Given the description of an element on the screen output the (x, y) to click on. 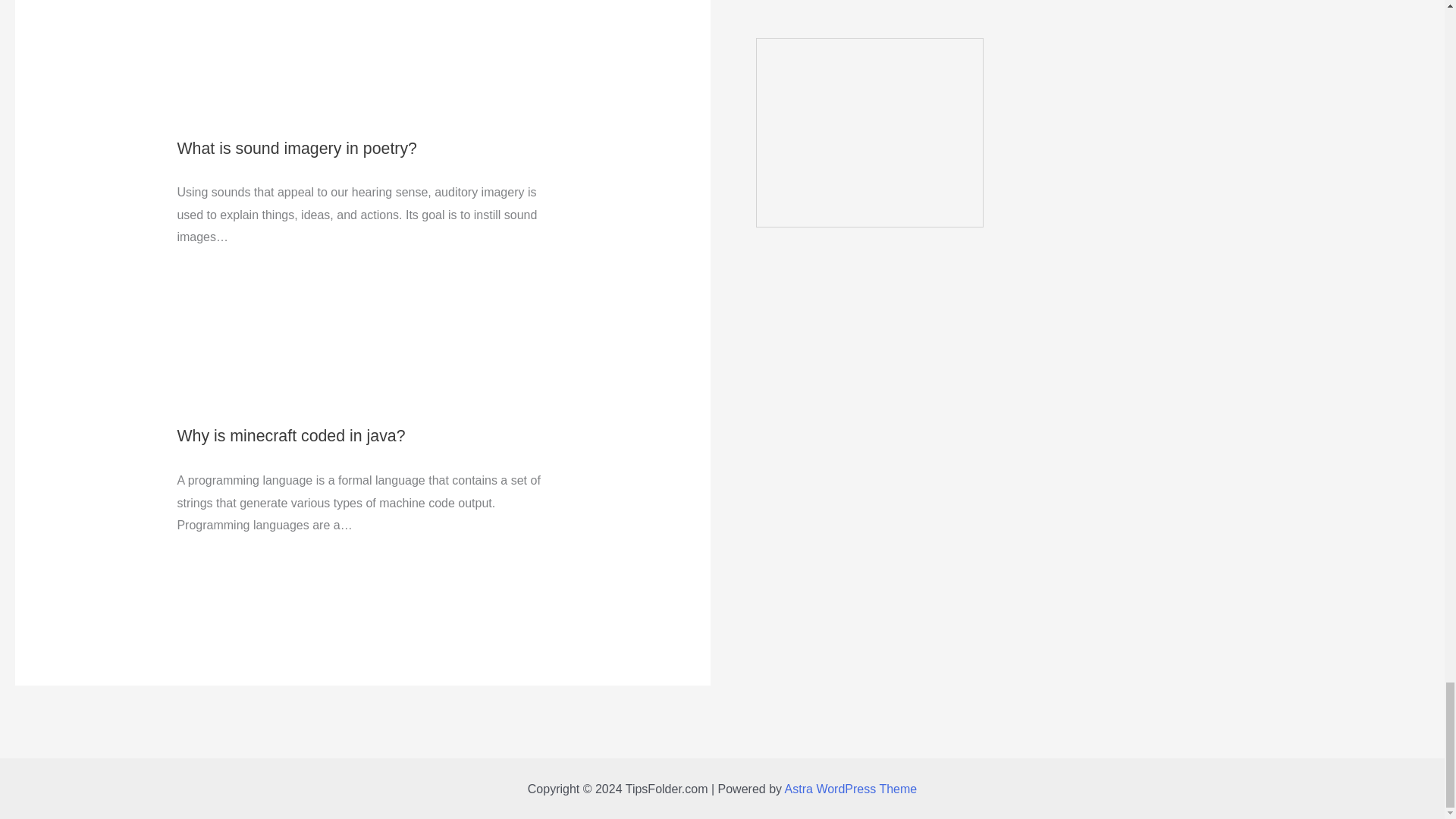
Why is minecraft coded in java? (290, 435)
What is sound imagery in poetry? (296, 148)
Astra WordPress Theme (850, 788)
